Given the description of an element on the screen output the (x, y) to click on. 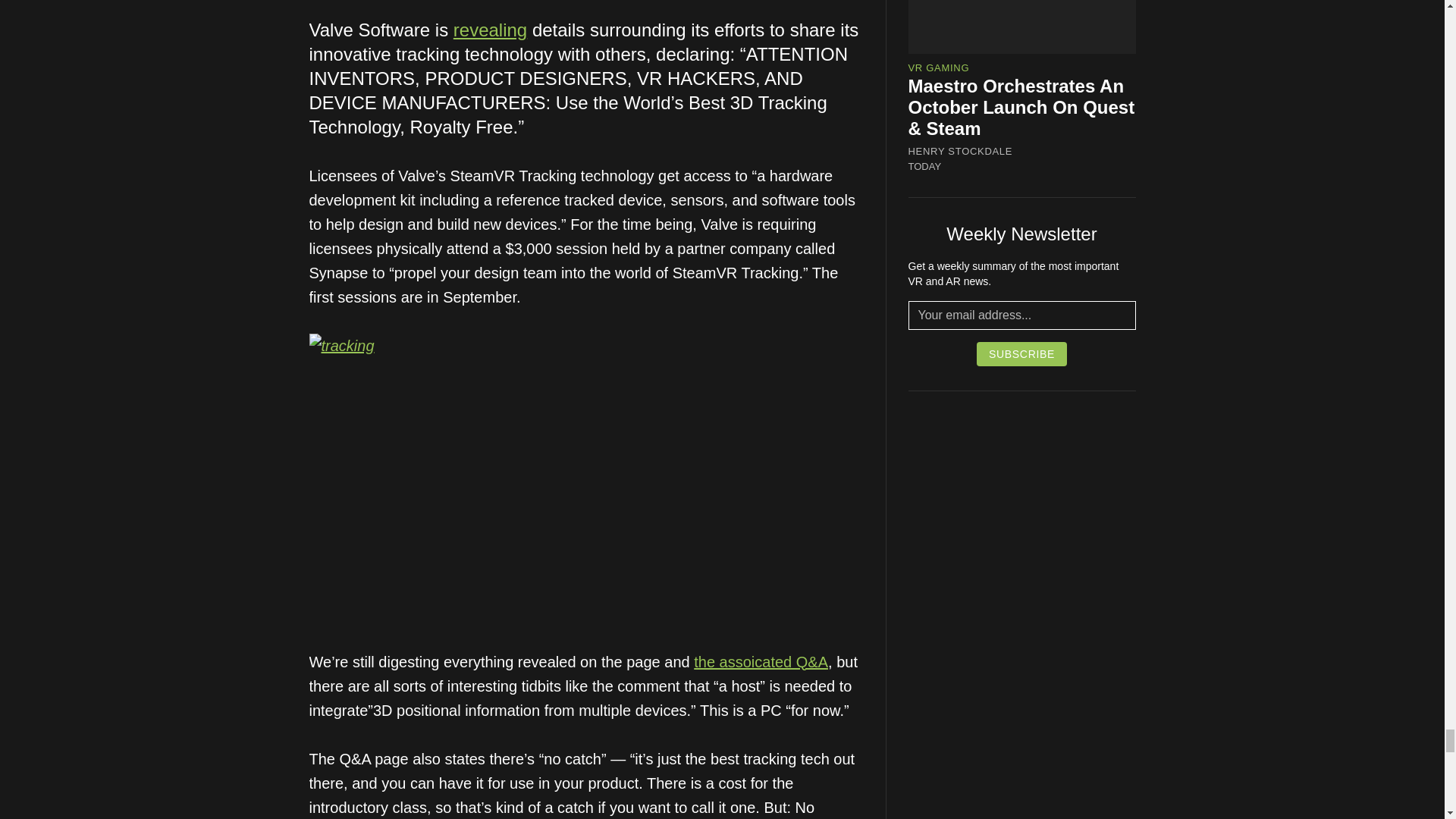
Subscribe (1021, 354)
Subscribe (1021, 354)
HENRY STOCKDALE (960, 151)
revealing (489, 29)
VR GAMING (938, 67)
